Given the description of an element on the screen output the (x, y) to click on. 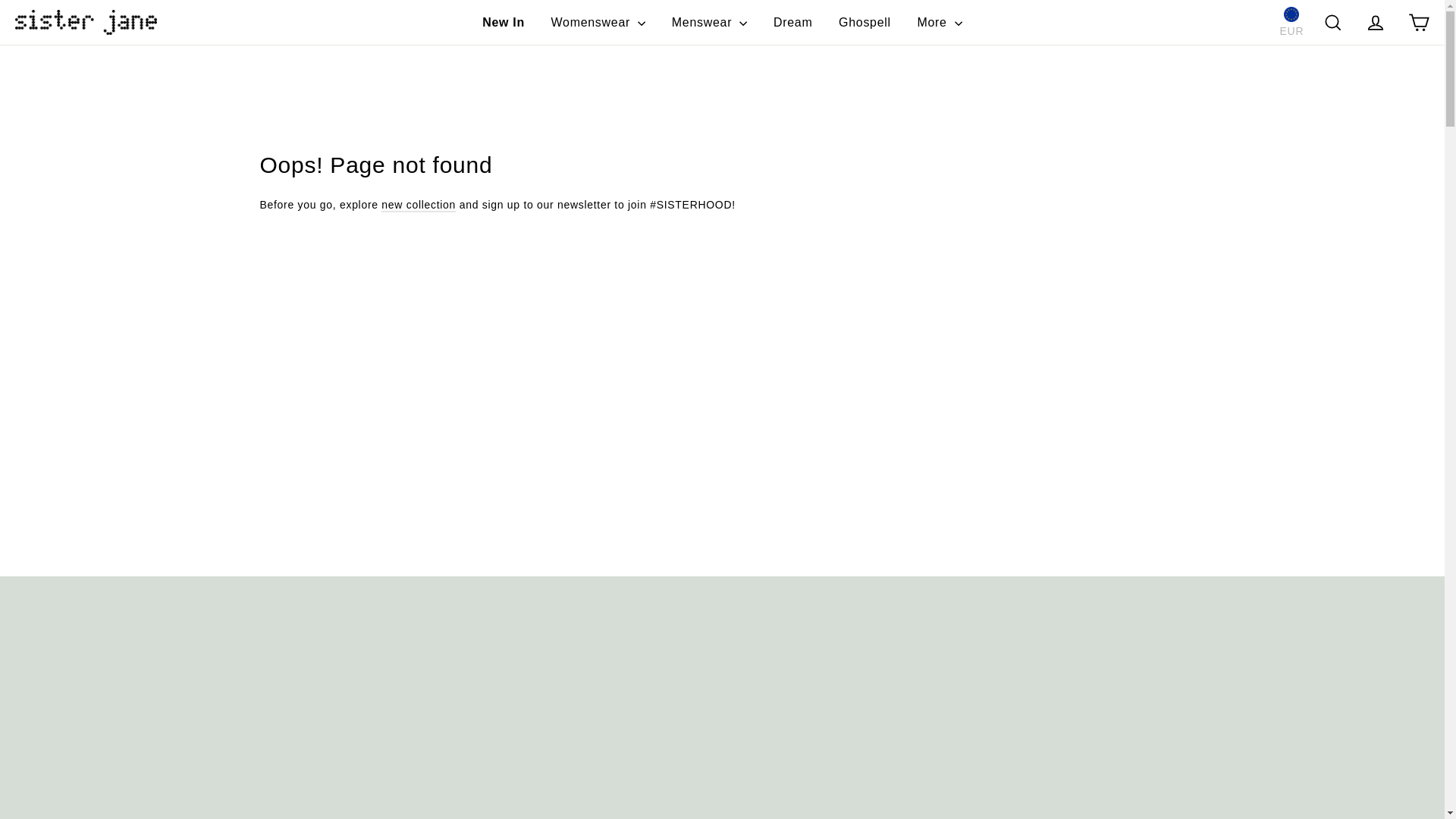
Womenswear (599, 21)
New In (502, 21)
